Given the description of an element on the screen output the (x, y) to click on. 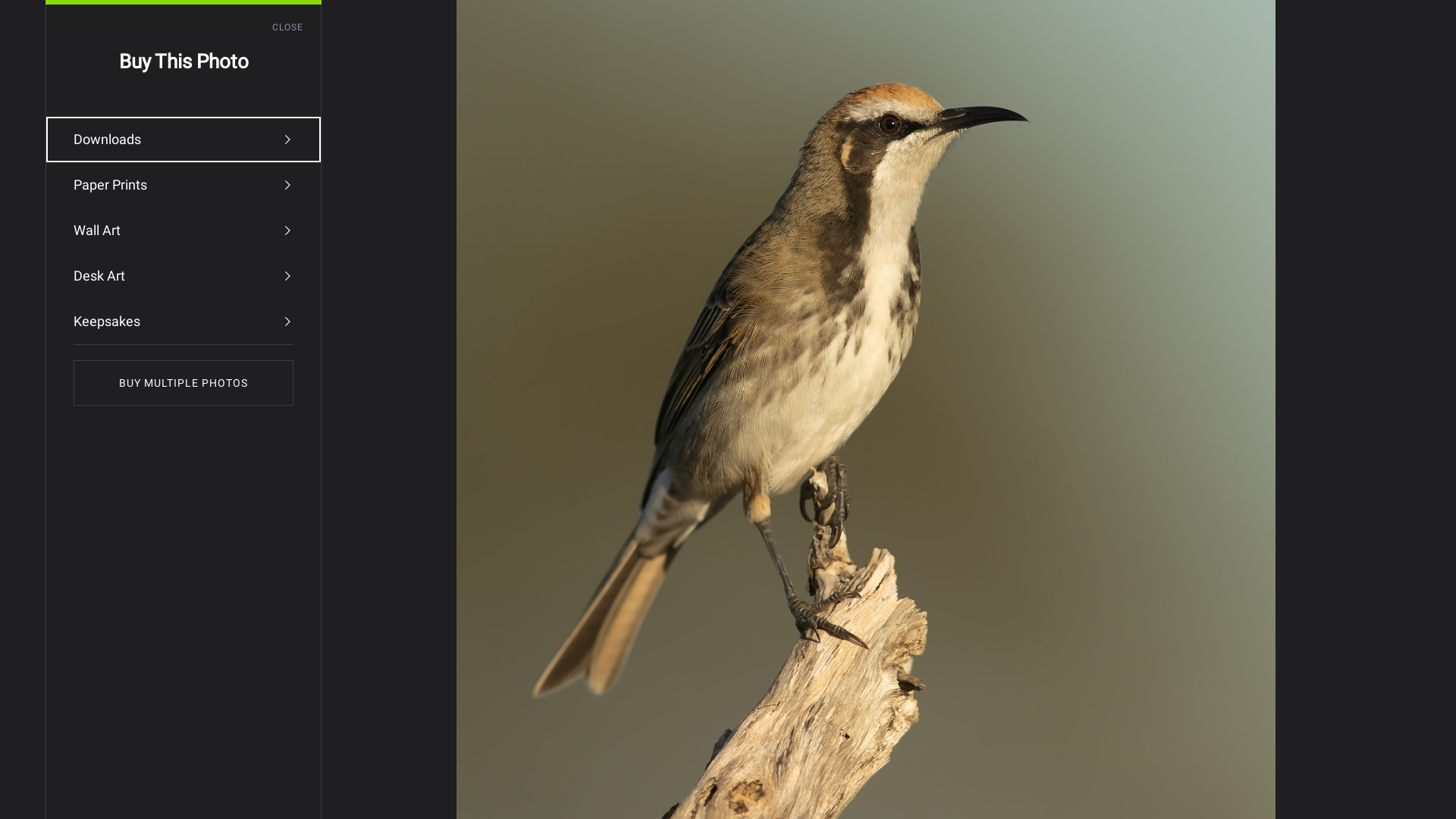
Home Element type: text (801, 91)
Instagram Element type: text (875, 91)
SmugMug Element type: hover (59, 22)
Landscapes Element type: text (1369, 91)
Paper Prints Element type: text (183, 184)
Downloads Element type: text (183, 139)
Photo Sharing Element type: text (38, 781)
BUY PHOTOS Element type: text (1372, 222)
Share Gallery Element type: hover (1251, 222)
BUY MULTIPLE PHOTOS Element type: text (183, 382)
Owner Log In Element type: text (430, 781)
Prints & Gifts Element type: text (252, 781)
Search "Birds of Australia" for photos Element type: hover (1380, 22)
Privacy Element type: text (338, 781)
Slideshow Element type: hover (1288, 222)
Fungi Element type: text (1292, 91)
SEARCH Element type: text (217, 175)
JJ Harrison Element type: text (71, 77)
CLOSE Element type: text (296, 27)
Insects and Spiders Element type: text (1189, 91)
About SmugMug Element type: text (112, 781)
Browse Photos Element type: text (186, 781)
Contact Element type: text (378, 781)
Birds Element type: text (945, 91)
Contact Element type: text (1401, 110)
Auspexr Element type: text (1329, 110)
Frogs and Reptiles Element type: text (1042, 91)
Keepsakes Element type: text (183, 321)
Wall Art Element type: text (183, 230)
Mammals Element type: text (1249, 110)
Desk Art Element type: text (183, 275)
Terms Element type: text (300, 781)
